Given the description of an element on the screen output the (x, y) to click on. 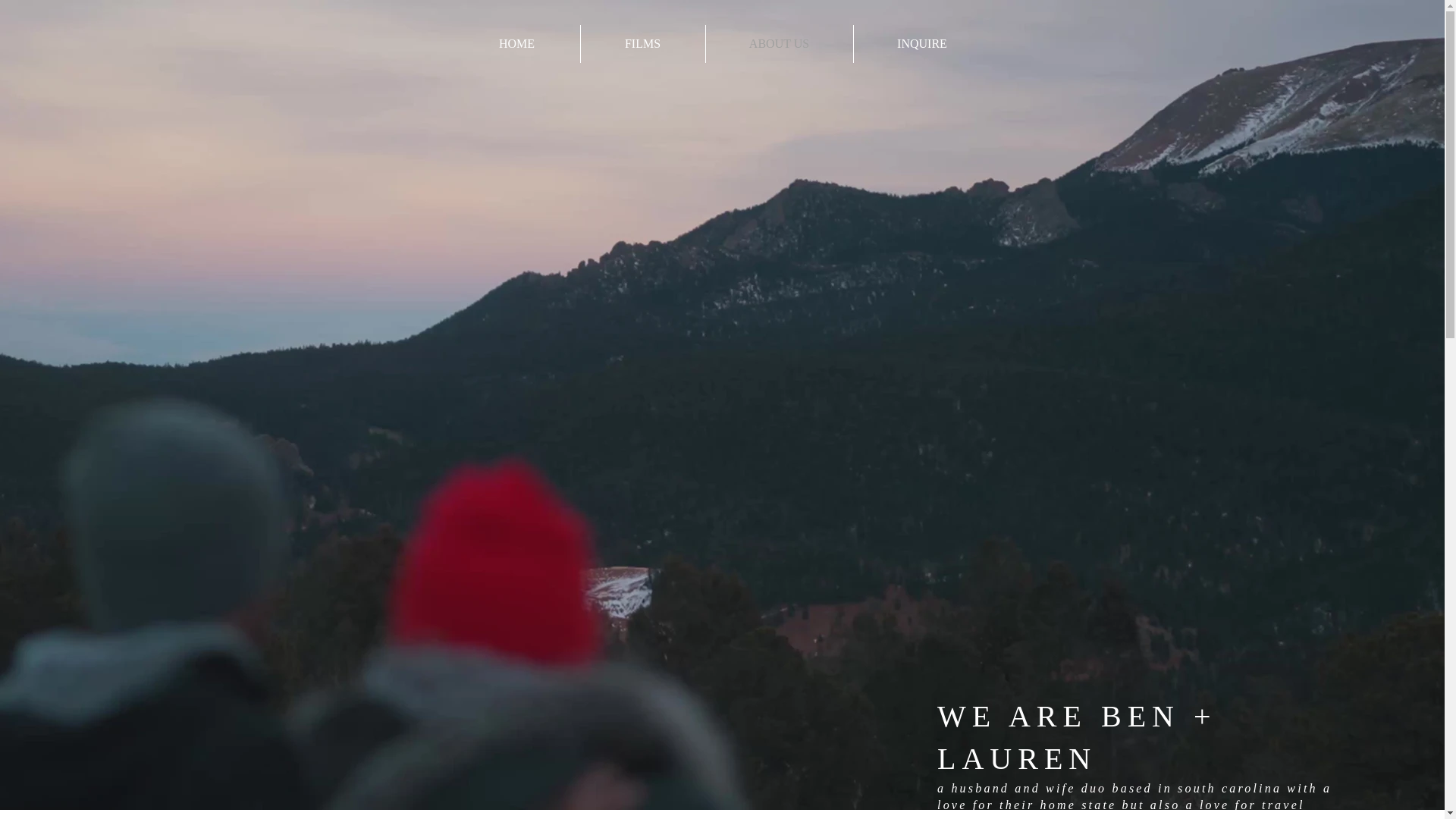
INQUIRE (922, 44)
ABOUT US (777, 44)
FILMS (642, 44)
HOME (515, 44)
